Given the description of an element on the screen output the (x, y) to click on. 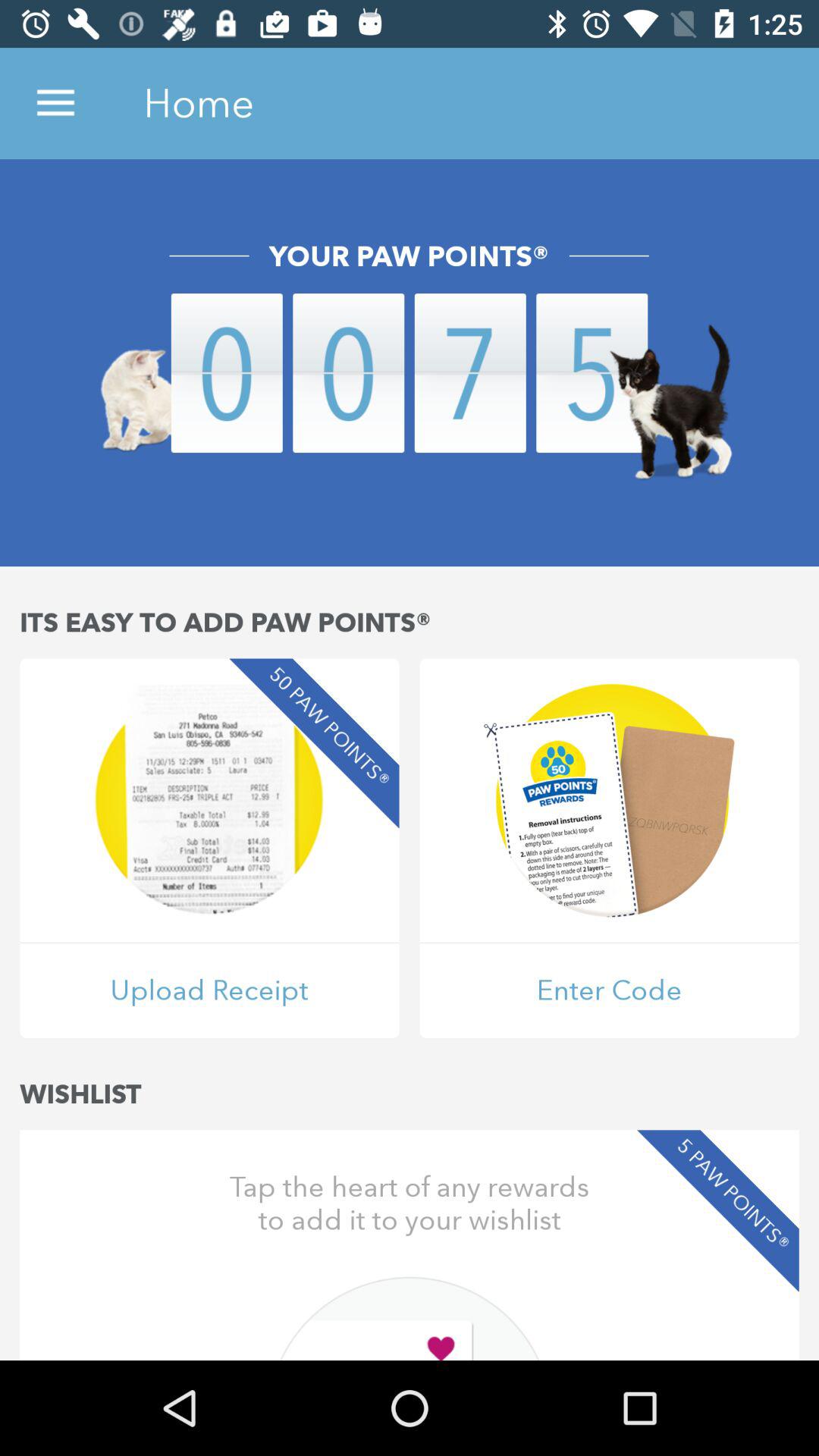
tap icon next to home item (55, 103)
